Given the description of an element on the screen output the (x, y) to click on. 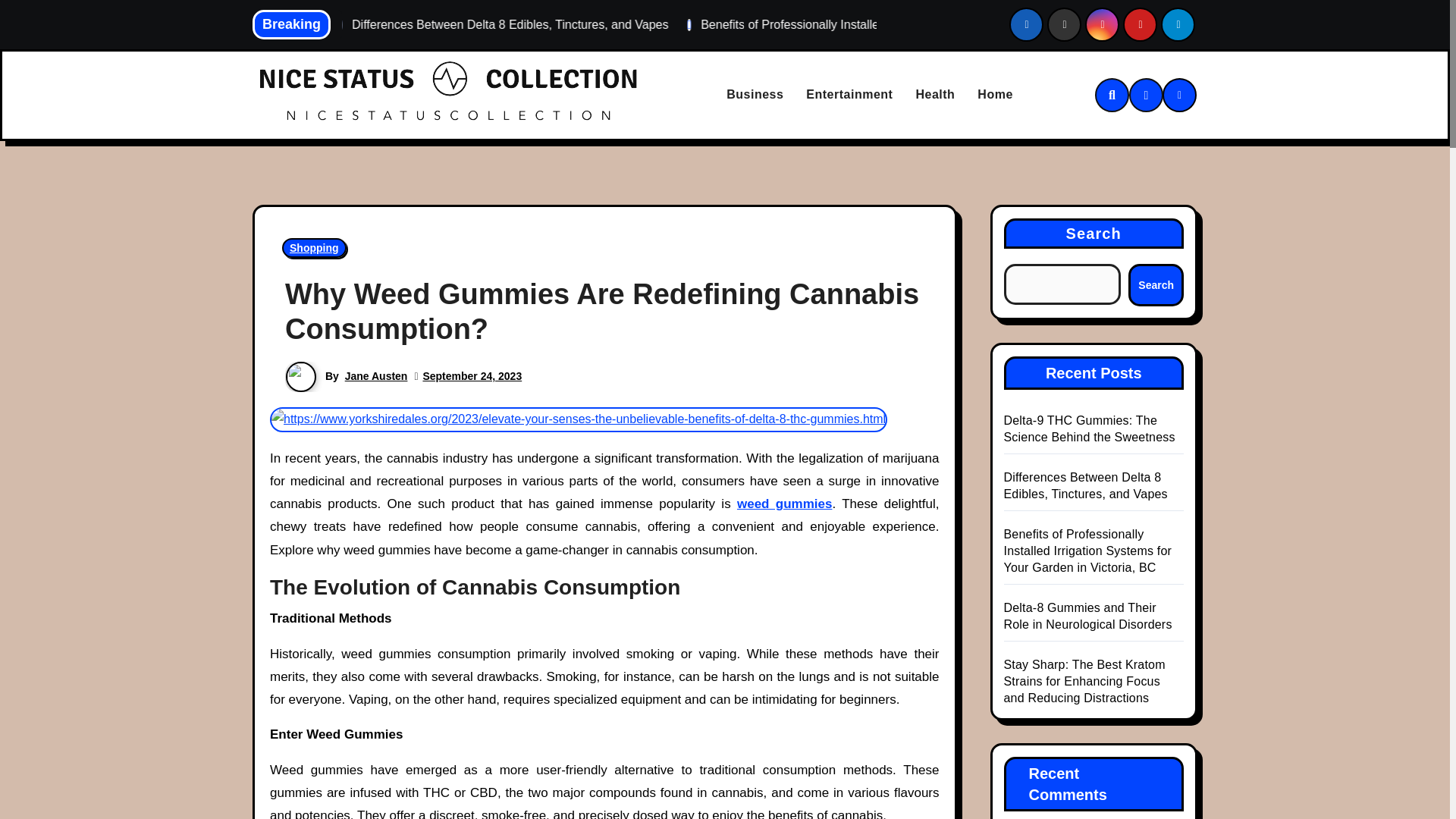
Entertainment (849, 95)
Shopping (314, 247)
Delta-9 THC Gummies: The Science Behind the Sweetness (423, 24)
Health (935, 95)
September 24, 2023 (471, 376)
Health (935, 95)
Home (994, 95)
Business (754, 95)
Business (754, 95)
Entertainment (849, 95)
